Given the description of an element on the screen output the (x, y) to click on. 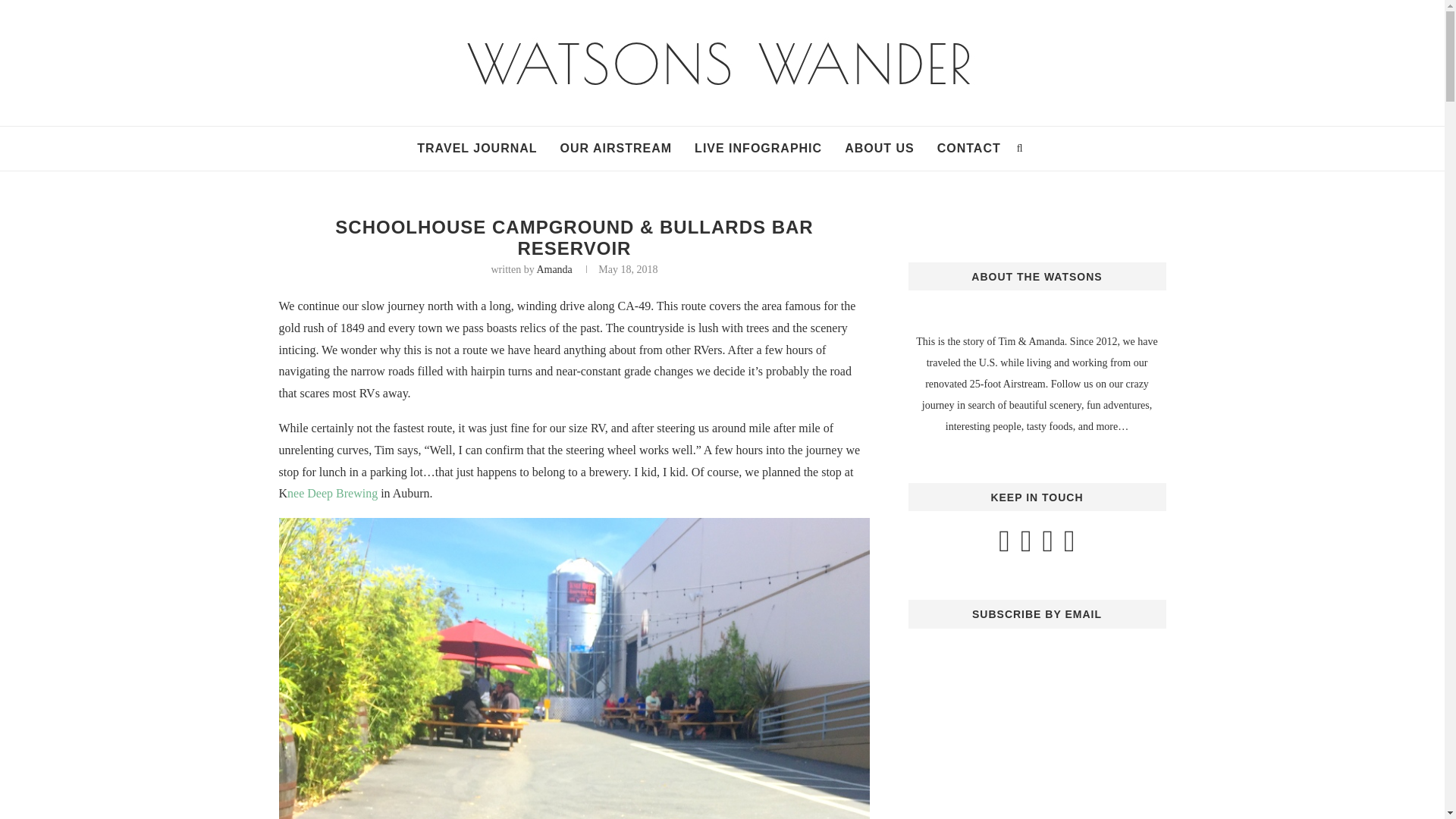
OUR AIRSTREAM (616, 148)
ABOUT US (879, 148)
Amanda (553, 269)
TRAVEL JOURNAL (476, 148)
nee Deep Brewing (331, 492)
CONTACT (969, 148)
LIVE INFOGRAPHIC (758, 148)
